Given the description of an element on the screen output the (x, y) to click on. 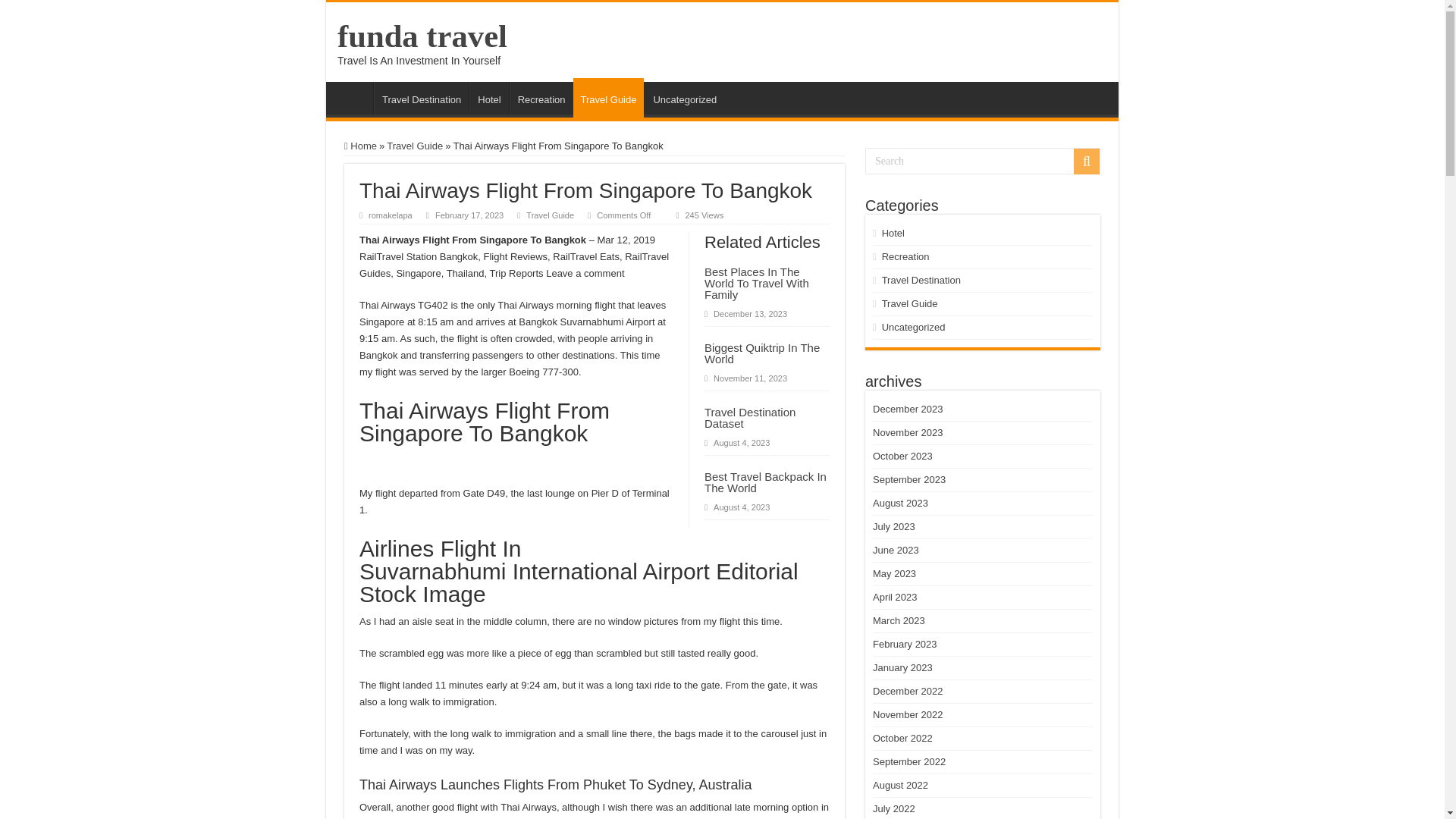
Home (360, 145)
Best Travel Backpack In The World (765, 482)
Travel Guide (609, 97)
Best Places In The World To Travel With Family (756, 283)
Travel Guide (414, 145)
funda travel (421, 36)
Hotel (488, 97)
romakelapa (390, 215)
Uncategorized (684, 97)
Biggest Quiktrip In The World (761, 353)
